Given the description of an element on the screen output the (x, y) to click on. 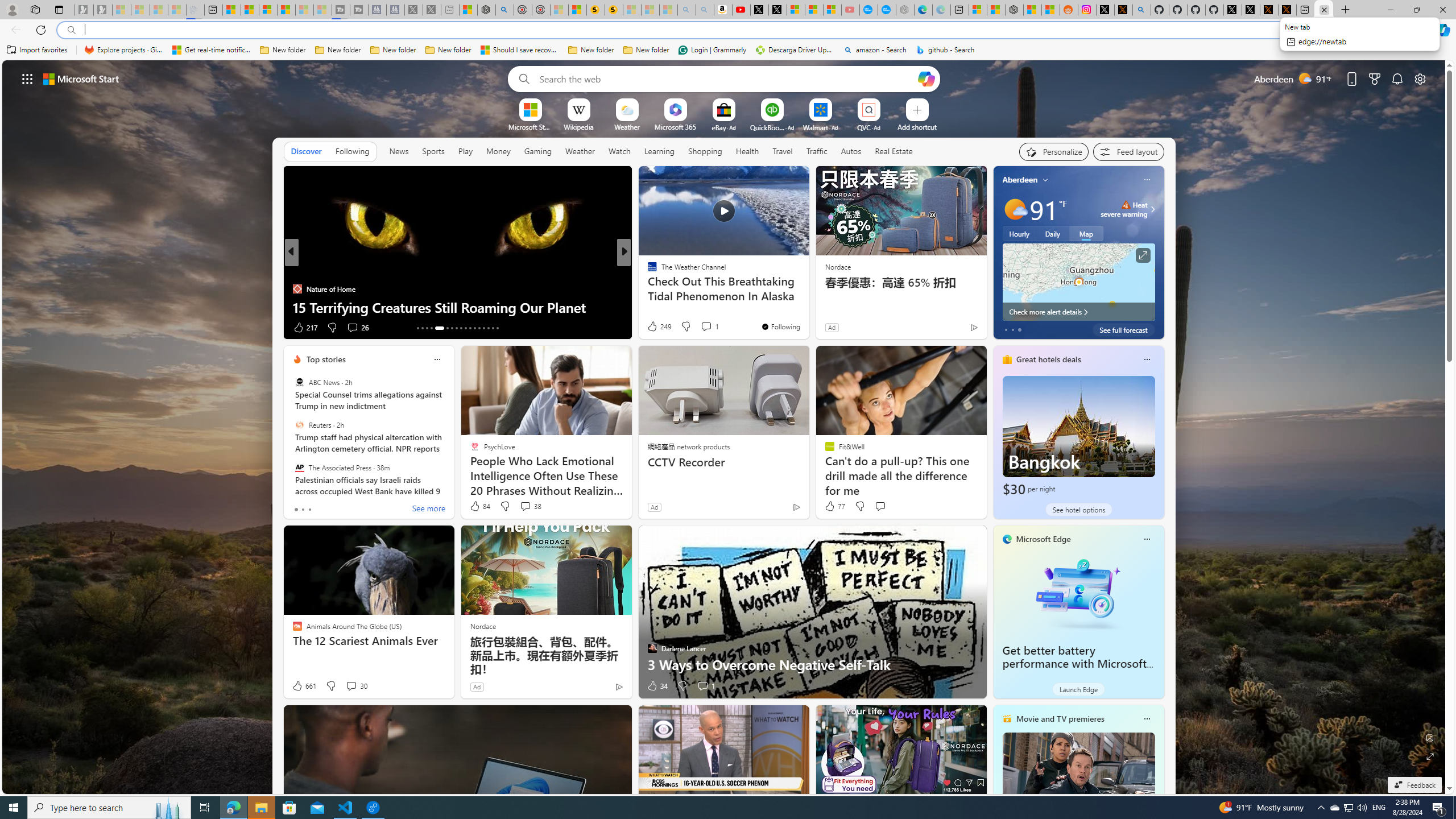
Enter your search term (726, 78)
Add a site (916, 126)
View comments 2 Comment (697, 327)
Feed settings (1128, 151)
AutomationID: tab-23 (470, 328)
View comments 366 Comment (703, 327)
github - Search (945, 49)
Edit Background (1430, 737)
Login | Grammarly (712, 49)
